Given the description of an element on the screen output the (x, y) to click on. 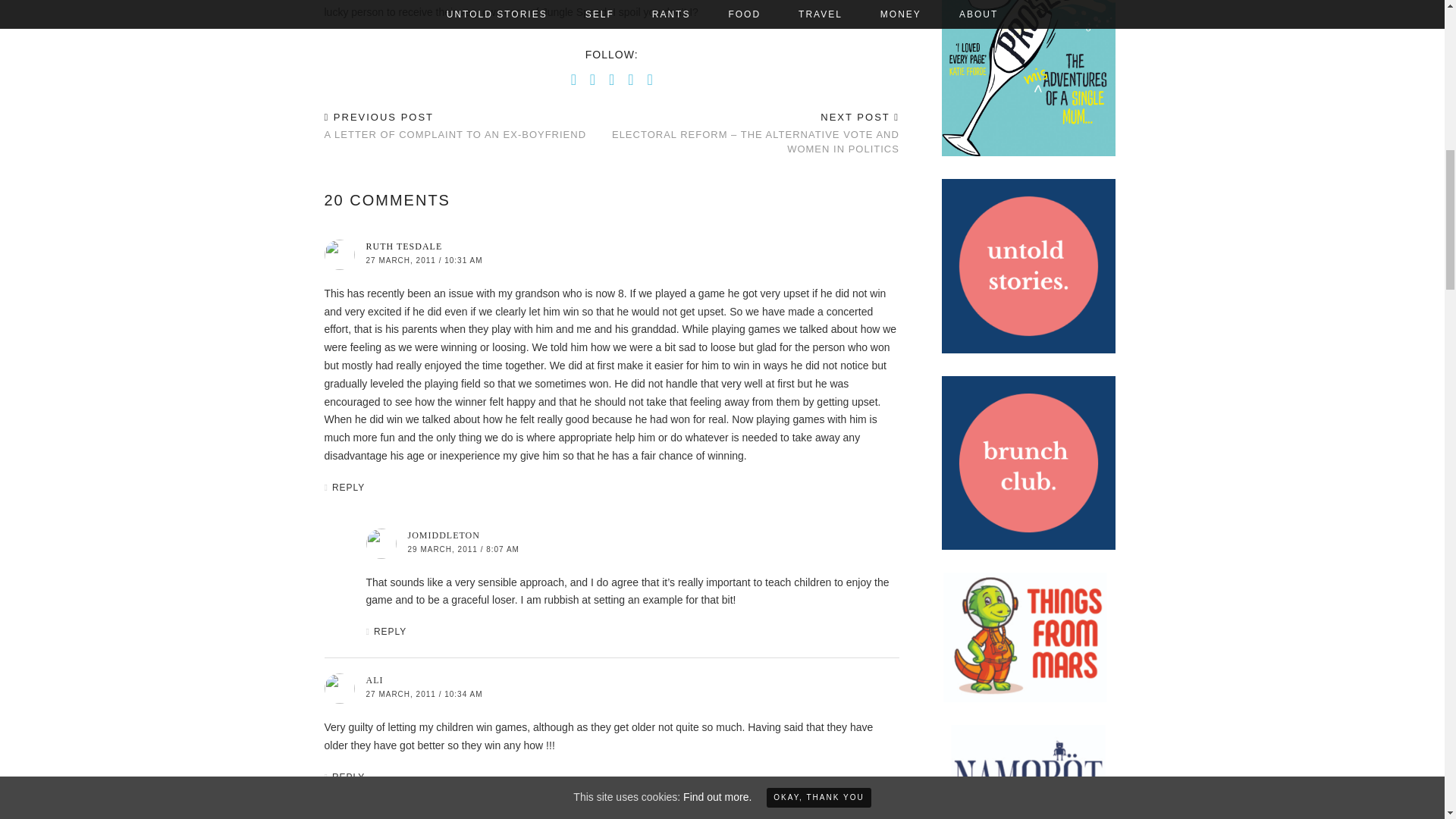
REPLY (348, 487)
JOMIDDLETON (443, 534)
Buy my book (1029, 152)
